Given the description of an element on the screen output the (x, y) to click on. 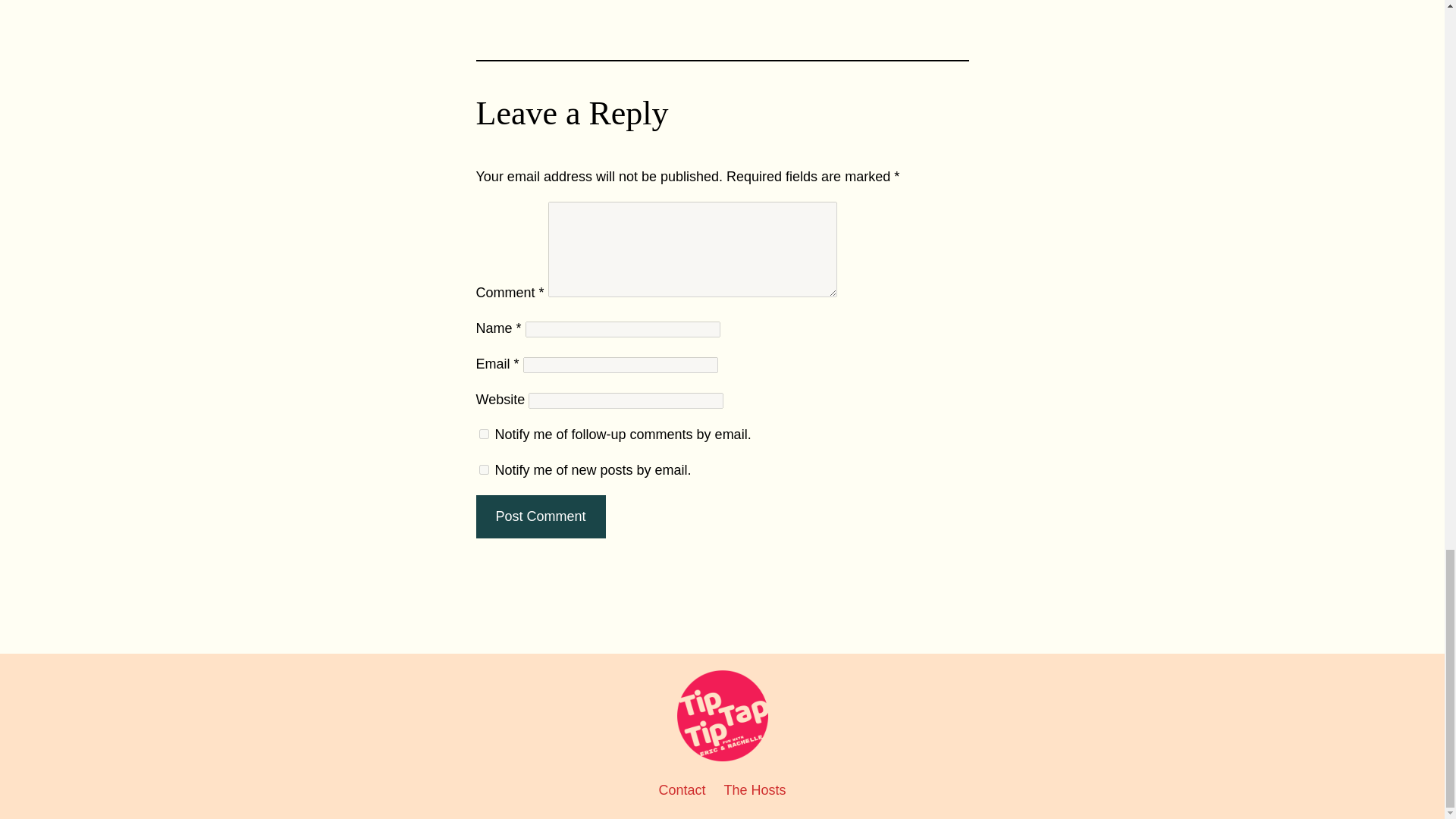
Post Comment (540, 516)
Post Comment (540, 516)
Contact (681, 790)
The Hosts (754, 790)
subscribe (484, 433)
subscribe (484, 470)
